Given the description of an element on the screen output the (x, y) to click on. 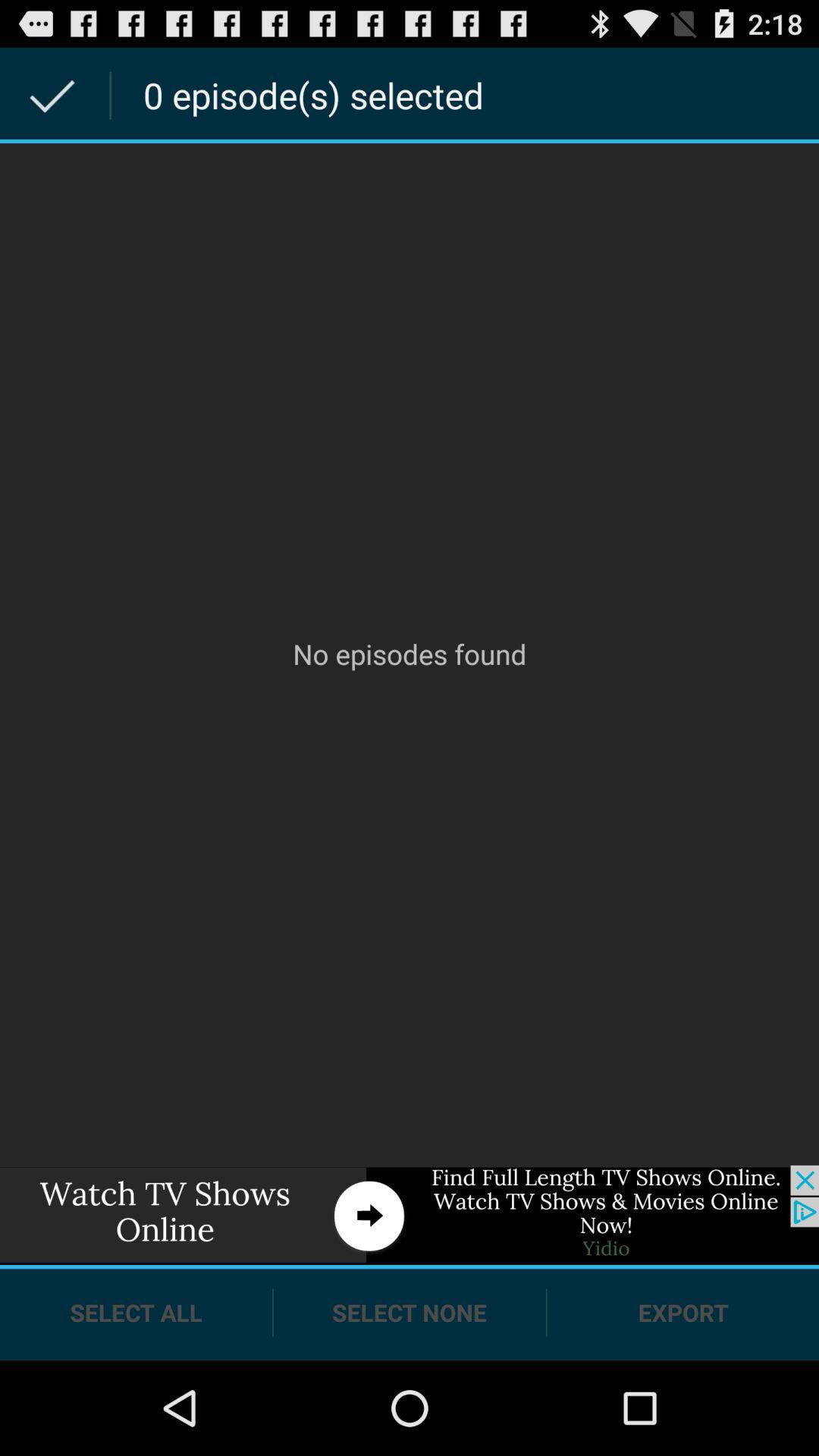
a link to an advertisement (409, 1214)
